Given the description of an element on the screen output the (x, y) to click on. 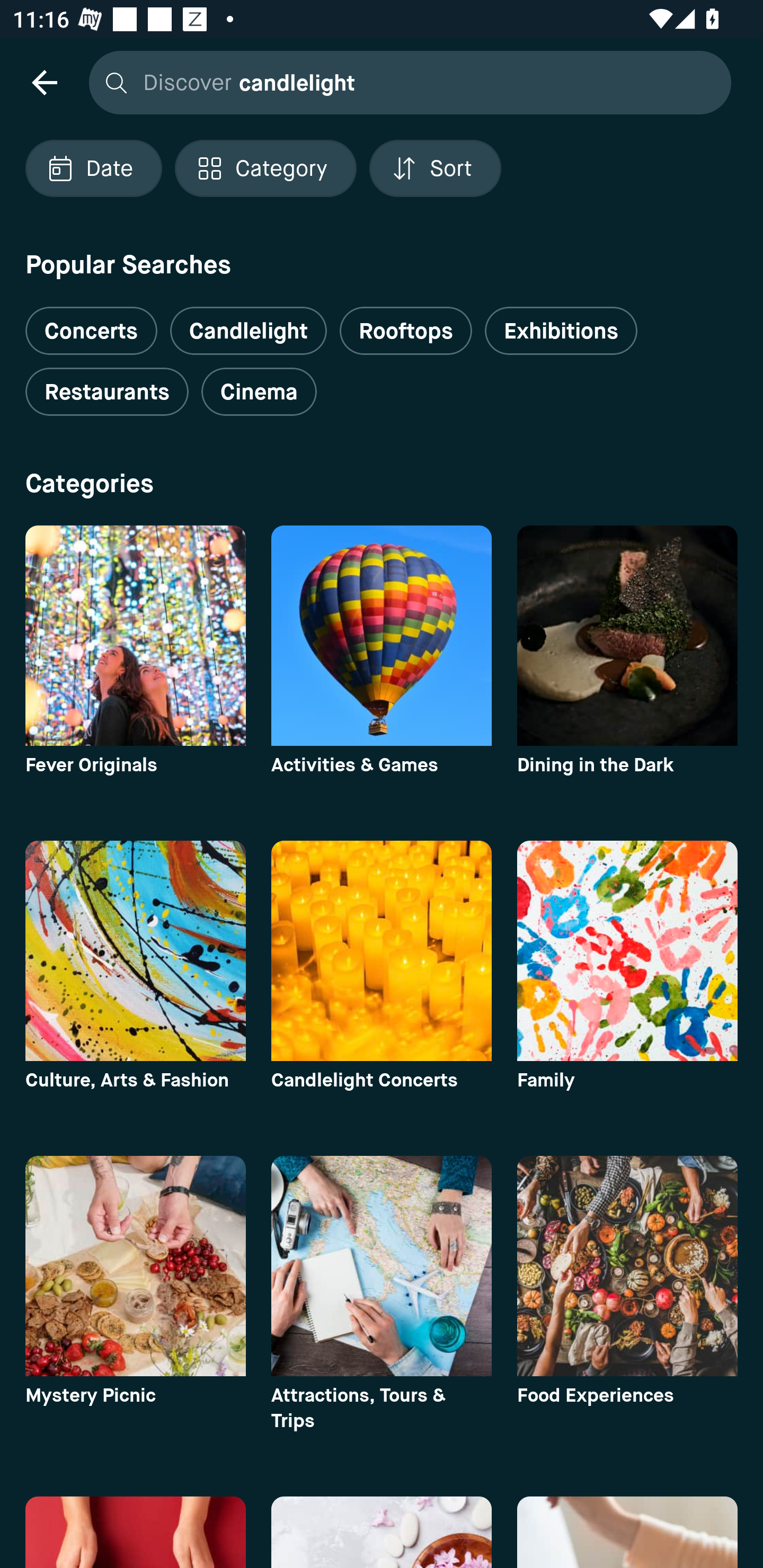
navigation icon (44, 81)
Discover candlelight (405, 81)
Localized description Date (93, 168)
Localized description Category (265, 168)
Localized description Sort (435, 168)
Concerts (91, 323)
Candlelight (248, 330)
Rooftops (405, 330)
Exhibitions (560, 330)
Restaurants (106, 391)
Cinema (258, 391)
category image (135, 635)
category image (381, 635)
category image (627, 635)
category image (135, 950)
category image (381, 950)
category image (627, 950)
category image (135, 1265)
category image (381, 1265)
category image (627, 1265)
